Given the description of an element on the screen output the (x, y) to click on. 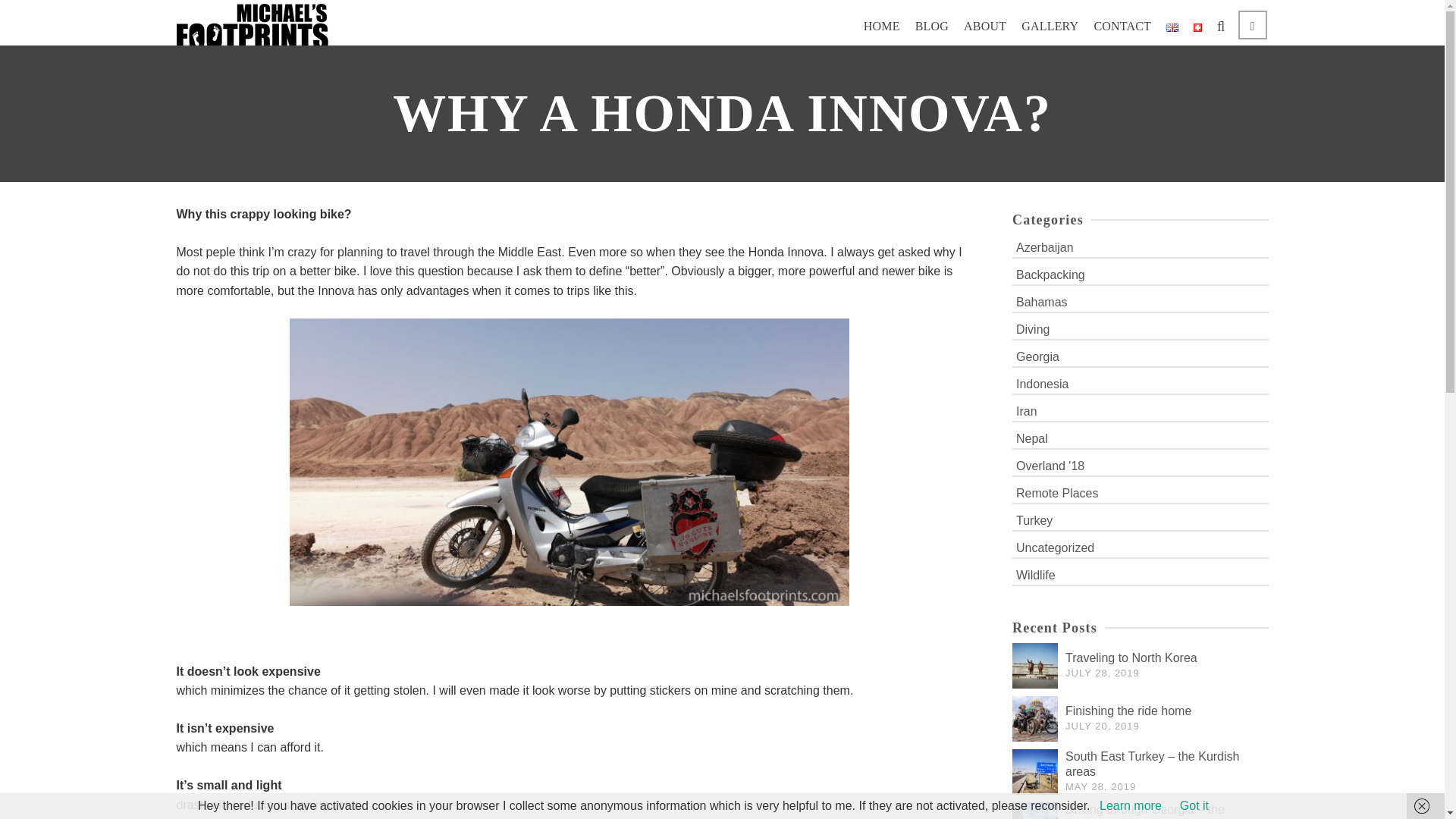
Deutsch (1197, 27)
Turkey (1139, 519)
Remote Places (1139, 492)
Georgia (1139, 355)
Iran (1139, 410)
Wildlife (1139, 574)
Indonesia (1139, 382)
BLOG (931, 26)
Finishing the ride home (1128, 710)
Traveling to North Korea (1130, 657)
Backpacking (1139, 273)
English (1171, 27)
Finishing the ride home (1128, 710)
Bahamas (1139, 300)
Traveling to North Korea (1130, 657)
